Given the description of an element on the screen output the (x, y) to click on. 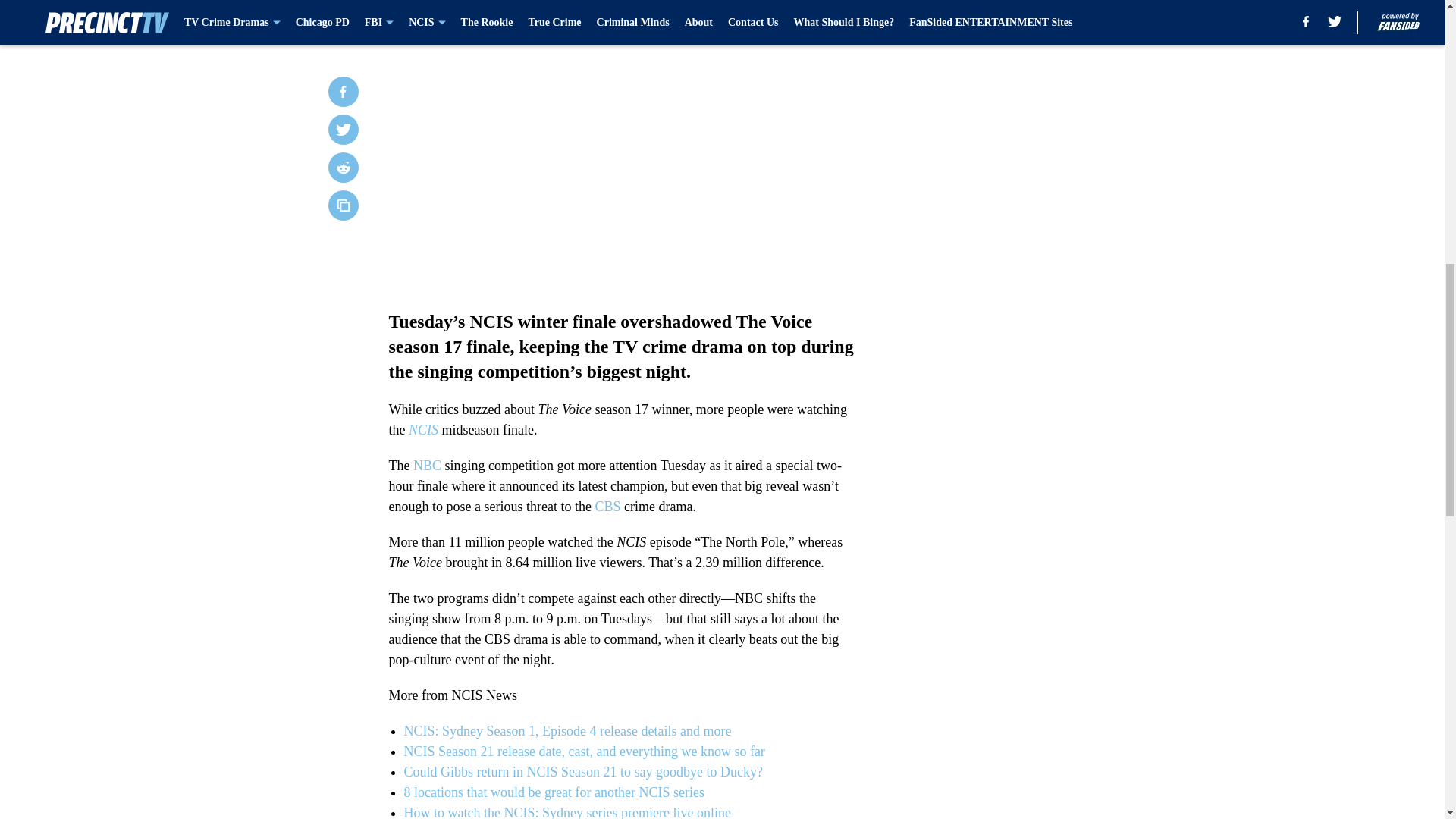
CBS (607, 506)
NBC (427, 465)
How to watch the NCIS: Sydney series premiere live online (566, 812)
NCIS (423, 429)
8 locations that would be great for another NCIS series (553, 792)
NCIS: Sydney Season 1, Episode 4 release details and more (566, 730)
